Given the description of an element on the screen output the (x, y) to click on. 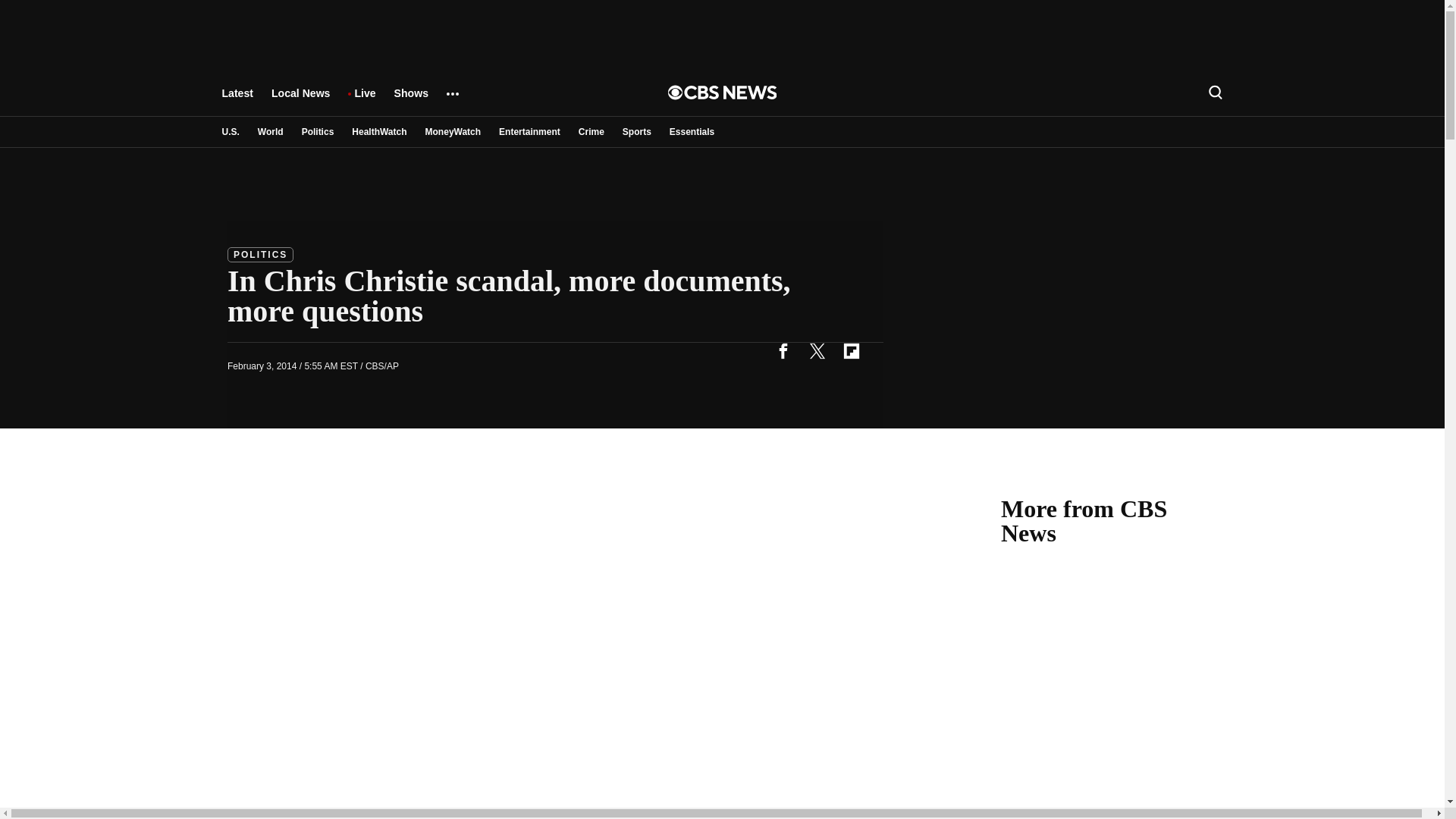
flipboard (850, 350)
Local News (300, 100)
facebook (782, 350)
twitter (816, 350)
Latest (236, 100)
